Given the description of an element on the screen output the (x, y) to click on. 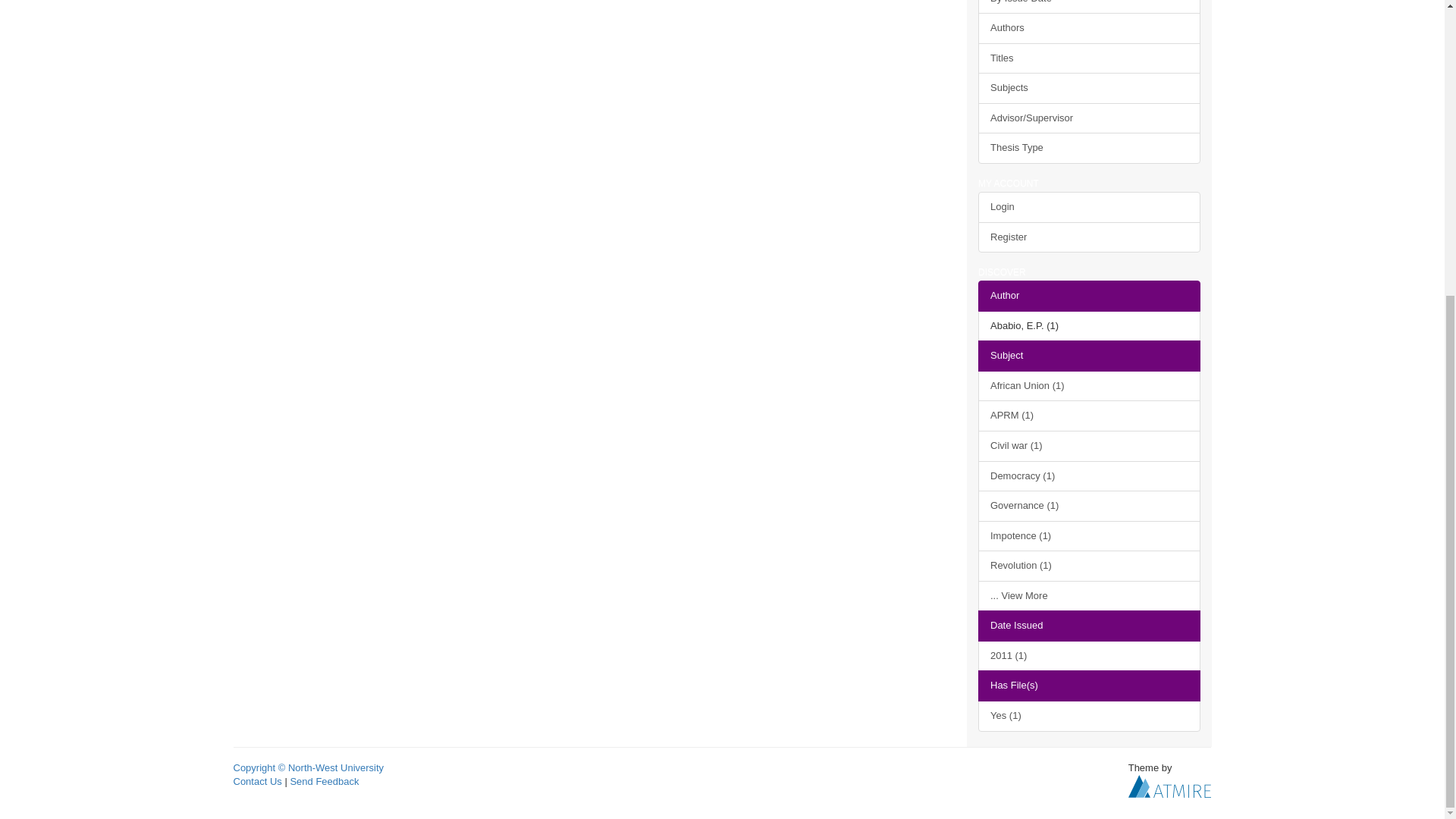
Atmire NV (1169, 785)
